Given the description of an element on the screen output the (x, y) to click on. 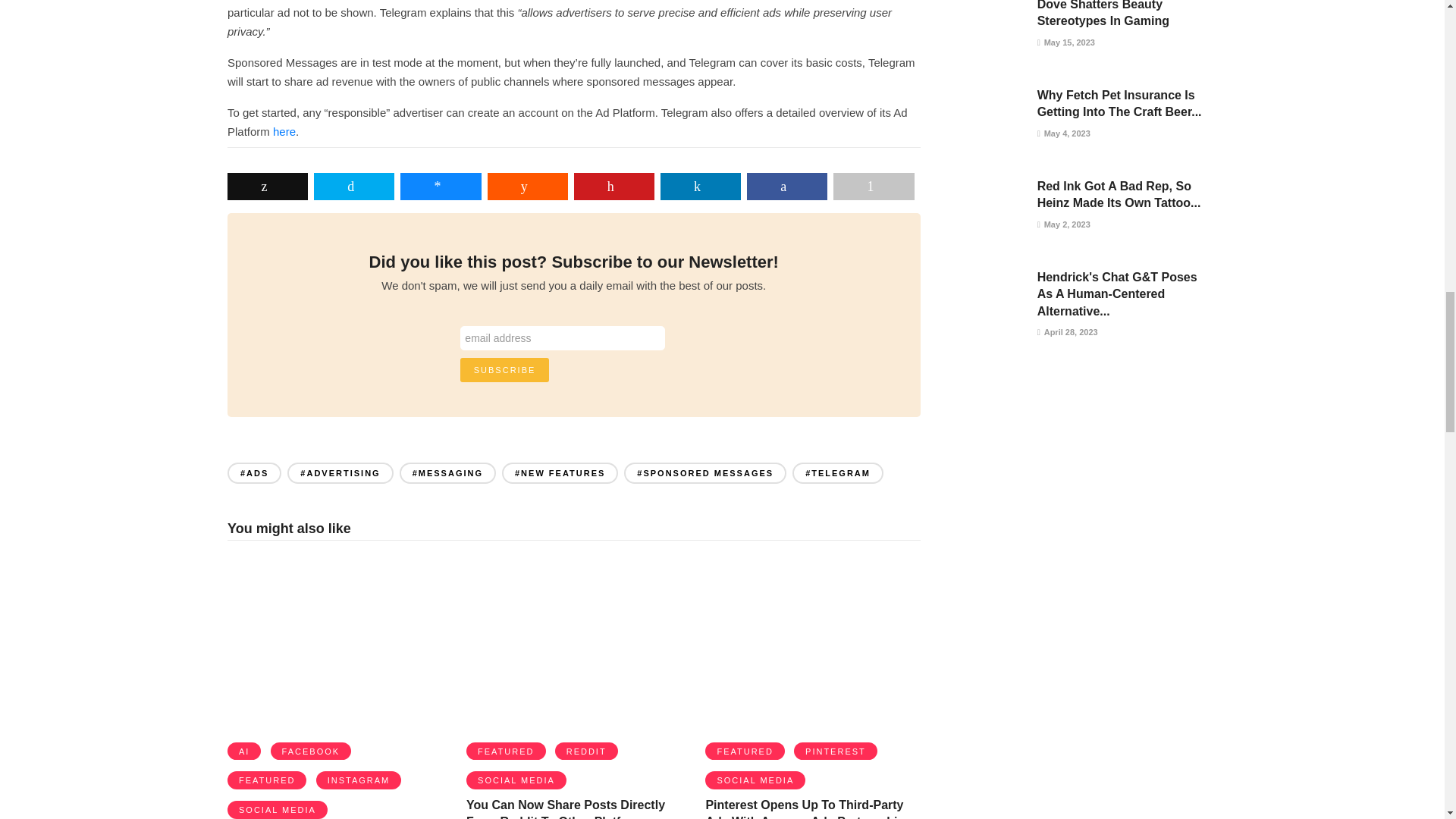
Share on Twitter (354, 185)
Share on Facebook Messenger (440, 185)
Share on Buffer (267, 185)
Subscribe (505, 369)
